Given the description of an element on the screen output the (x, y) to click on. 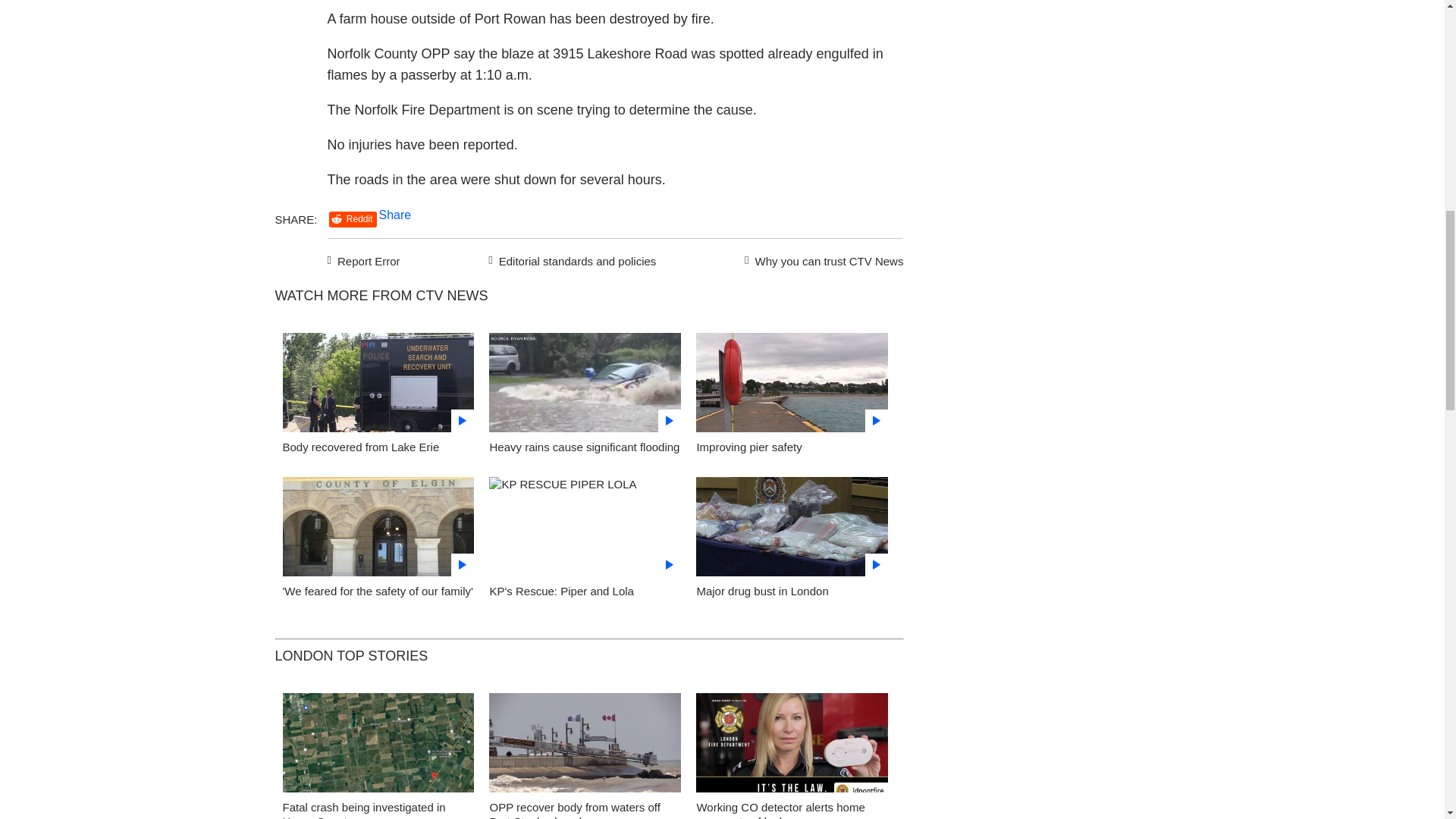
Heavy rains cause significant flooding (584, 446)
Body recovered from Lake Erie (378, 386)
carbon monoxide detector - london fire - july 2024 (791, 746)
Heavy rains cause significant flooding (585, 386)
Major drug bust in London (761, 590)
Fatal crash being investigated in Huron County (363, 809)
OPP recover body from waters off Port Stanley beach (574, 809)
Improving pier safety (748, 446)
'We feared for the safety of our family' (378, 530)
KP RESCUE PIPER LOLA (585, 530)
Body recovered from Lake Erie (360, 446)
false (378, 526)
Report Error (363, 259)
Share (395, 214)
Major drug bust in London (791, 530)
